Given the description of an element on the screen output the (x, y) to click on. 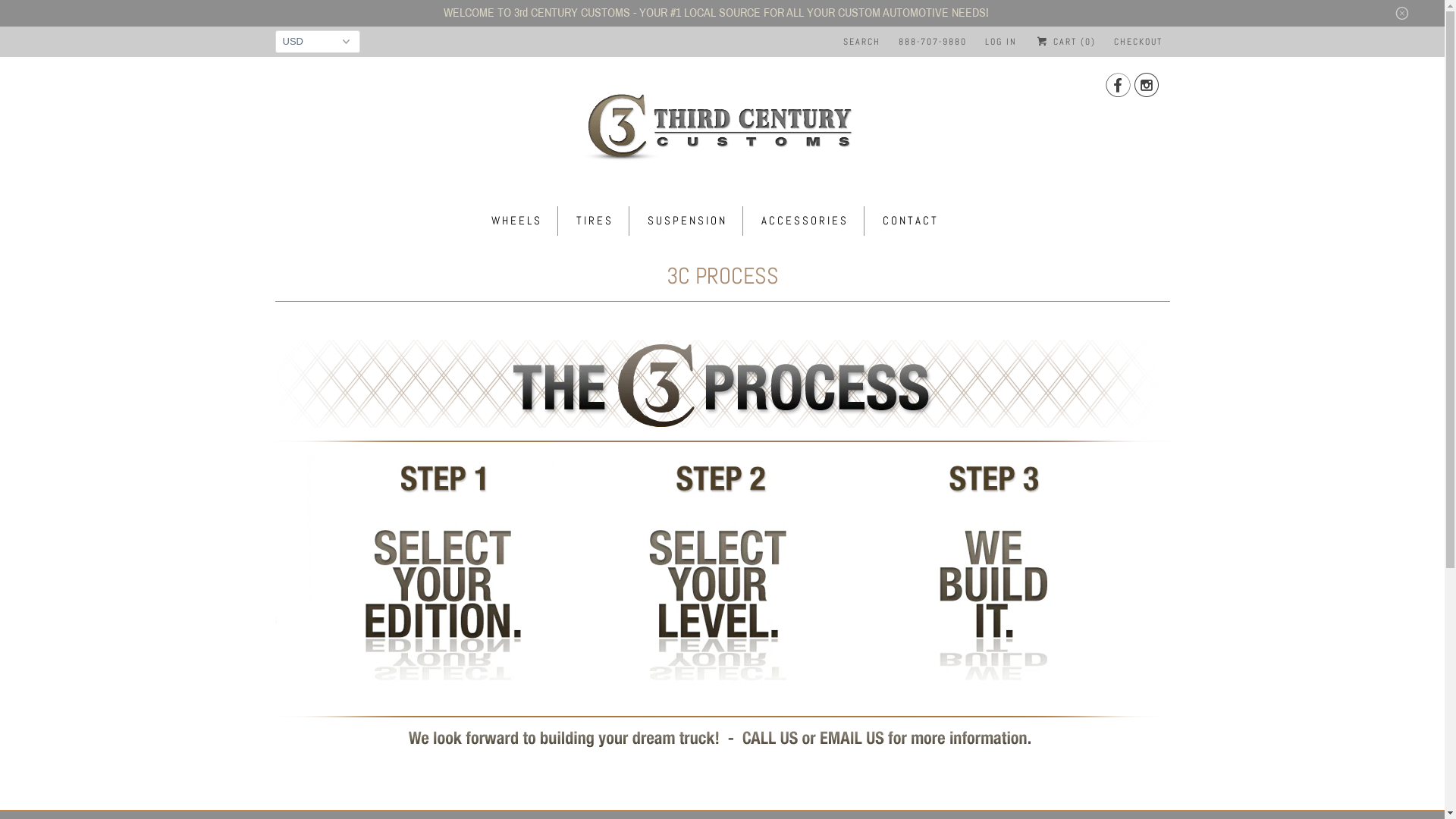
CHECKOUT Element type: text (1137, 41)
CONTACT Element type: text (910, 220)
TIRES Element type: text (594, 220)
LOG IN Element type: text (1000, 41)
WHEELS Element type: text (516, 220)
CART (0) Element type: text (1065, 41)
SUSPENSION Element type: text (687, 220)
SEARCH Element type: text (861, 41)
ACCESSORIES Element type: text (804, 220)
Third Century Customs Element type: hover (721, 124)
888-707-9880 Element type: text (932, 41)
